Given the description of an element on the screen output the (x, y) to click on. 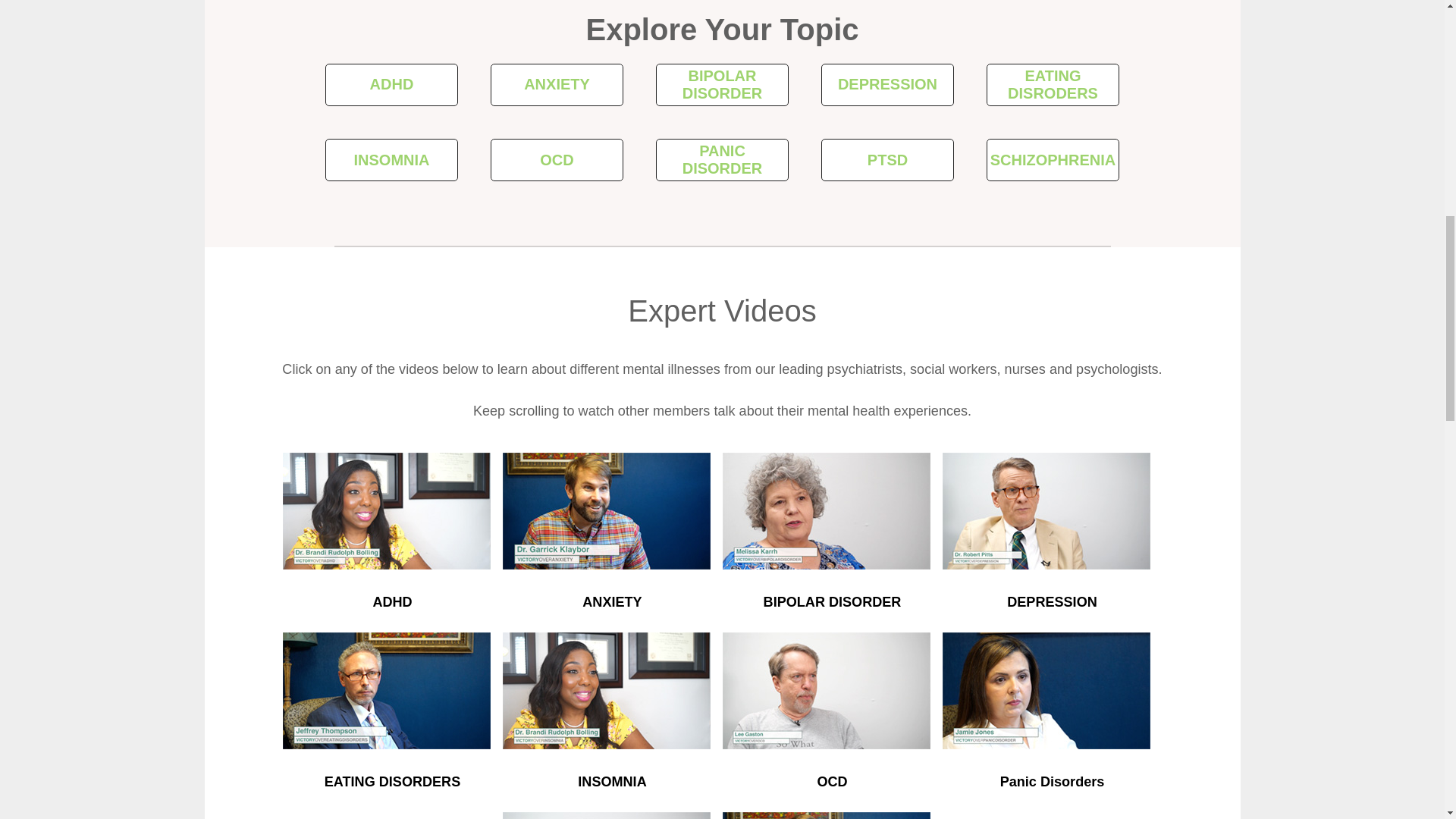
INSOMNIA (612, 781)
ADHD (392, 601)
BIPOLAR DISORDER (831, 601)
DEPRESSION (1052, 601)
Panic Disorders (1052, 781)
EATING DISORDERS (392, 781)
OCD (831, 781)
ANXIETY (612, 601)
